Given the description of an element on the screen output the (x, y) to click on. 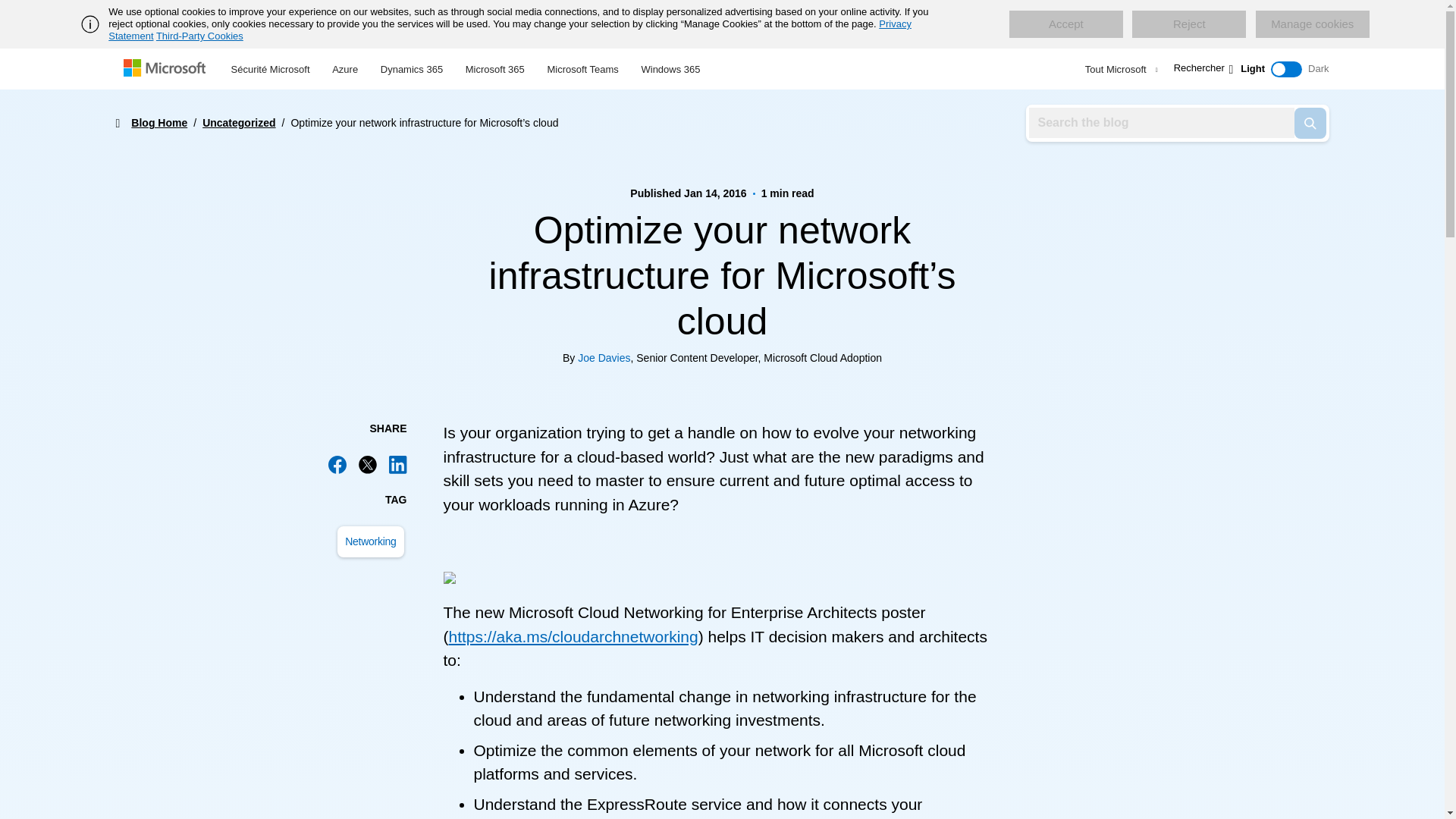
Microsoft (167, 69)
Accept (1065, 23)
Microsoft Teams (582, 67)
Microsoft 365 (494, 67)
Manage cookies (1312, 23)
Windows 365 (669, 67)
Tout Microsoft (1119, 69)
Third-Party Cookies (199, 35)
Dynamics 365 (411, 67)
Reject (1189, 23)
Privacy Statement (509, 29)
Azure (344, 67)
